Given the description of an element on the screen output the (x, y) to click on. 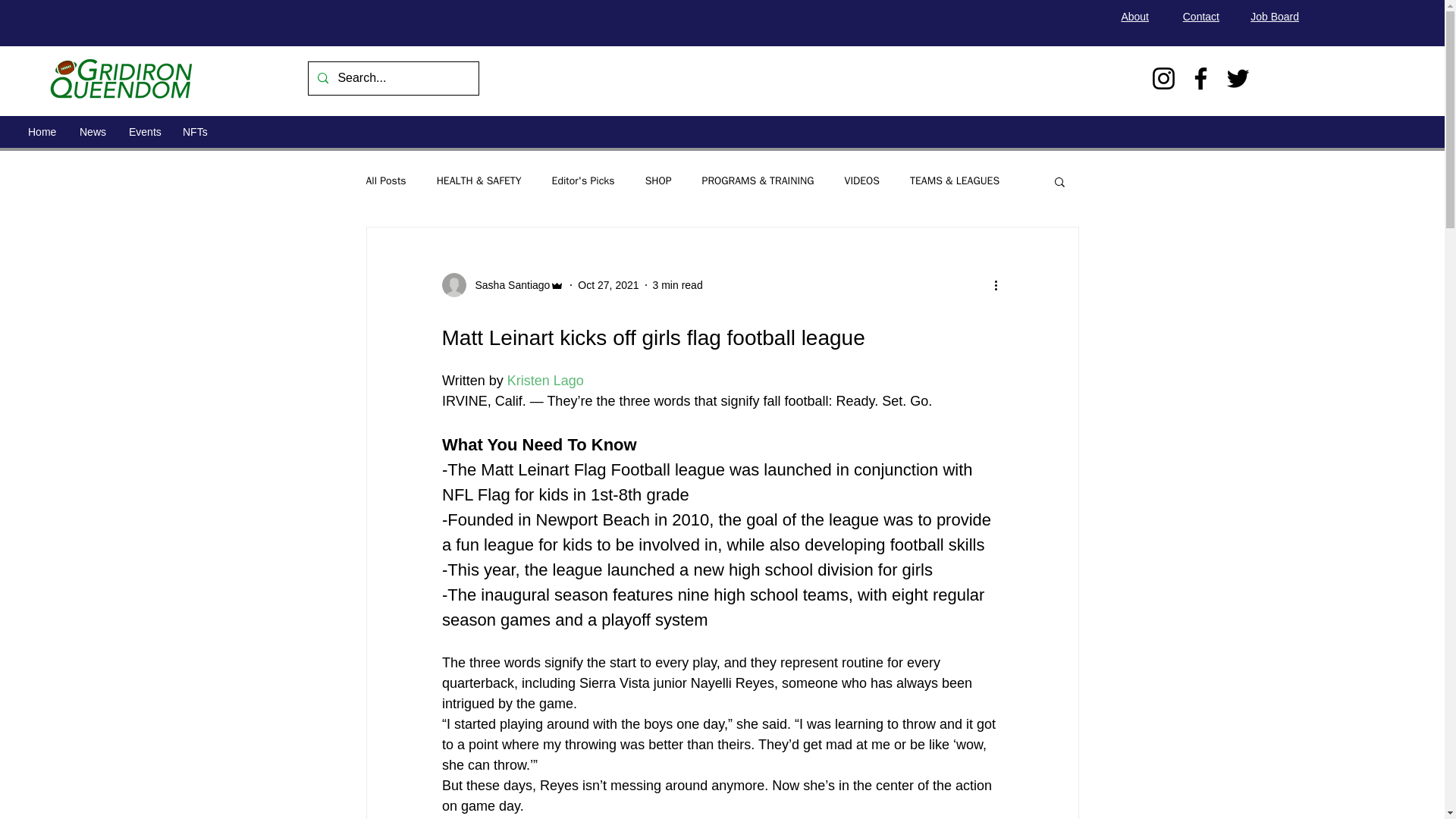
3 min read (677, 285)
Home (42, 132)
Kristen Lago (544, 380)
NFTs (193, 132)
Events (144, 132)
Job Board (1274, 16)
Editor's Picks (582, 181)
Oct 27, 2021 (608, 285)
About (1134, 16)
All Posts (385, 181)
